Given the description of an element on the screen output the (x, y) to click on. 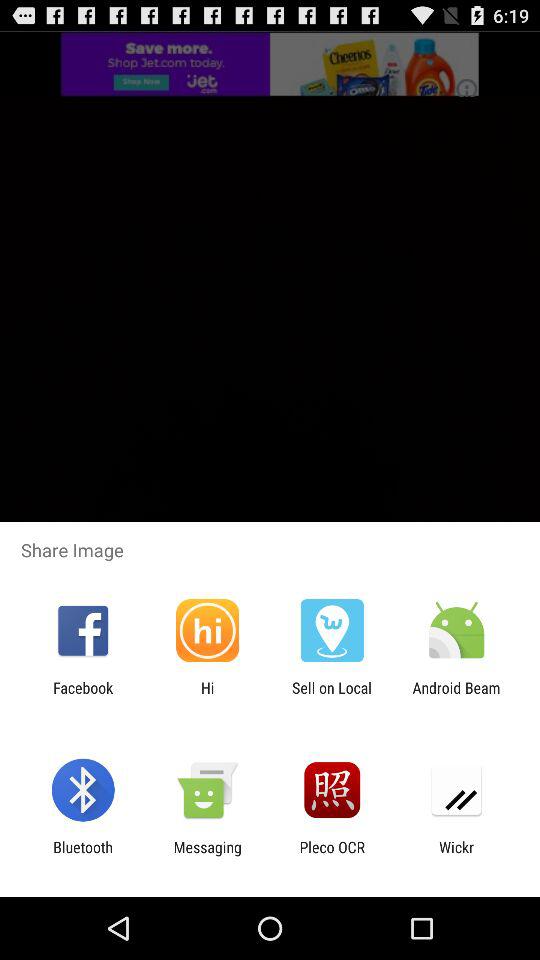
open the icon to the left of the wickr icon (331, 856)
